Given the description of an element on the screen output the (x, y) to click on. 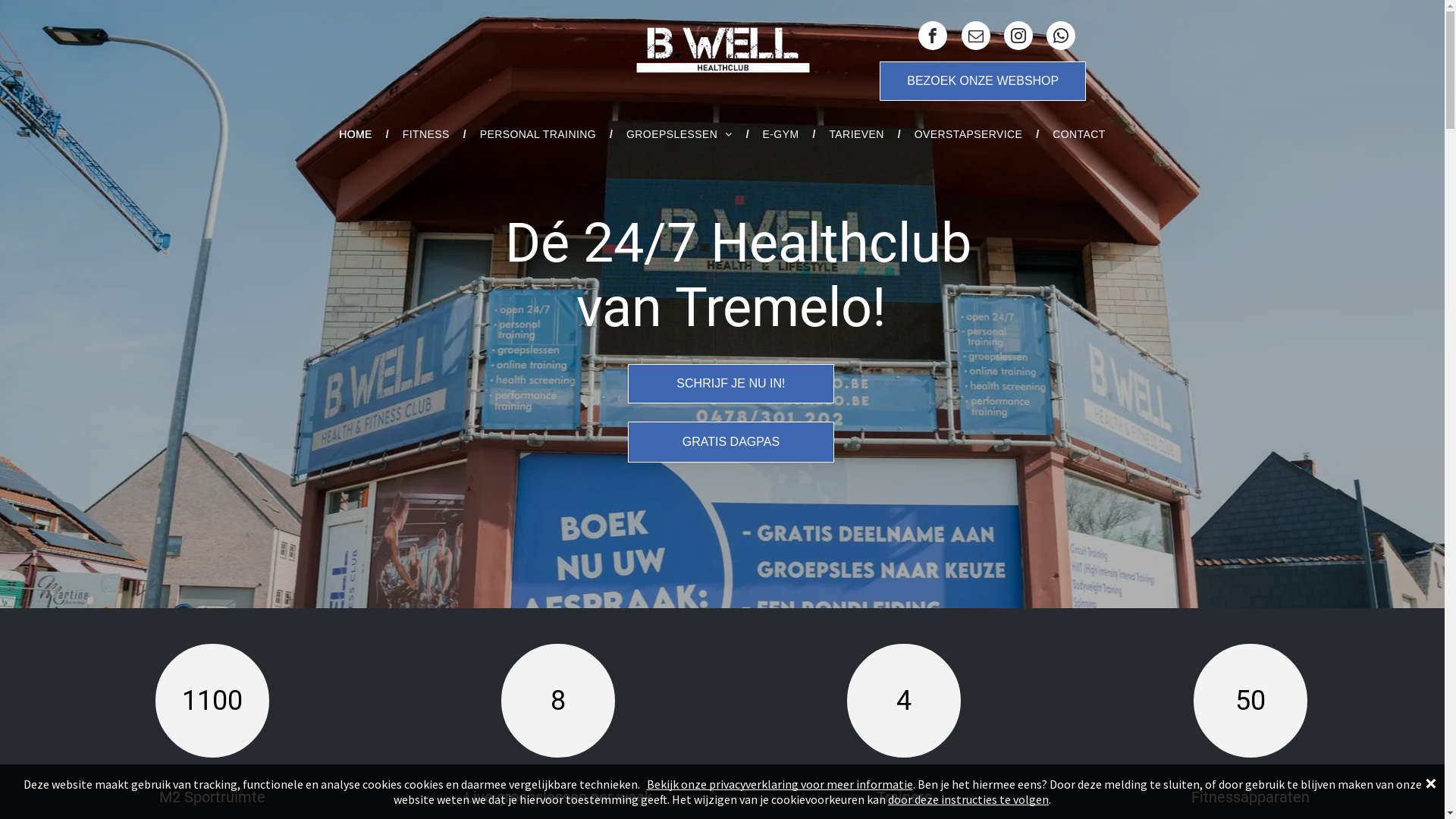
FITNESS Element type: text (426, 134)
CONTACT Element type: text (1078, 134)
Bekijk onze privacyverklaring voor meer informatie Element type: text (779, 783)
GROEPSLESSEN Element type: text (679, 134)
OVERSTAPSERVICE Element type: text (968, 134)
GRATIS DAGPAS Element type: text (730, 441)
SCHRIJF JE NU IN! Element type: text (730, 383)
HOME Element type: text (355, 134)
E-GYM Element type: text (780, 134)
TARIEVEN Element type: text (856, 134)
PERSONAL TRAINING Element type: text (537, 134)
BEZOEK ONZE WEBSHOP Element type: text (982, 80)
door deze instructies te volgen Element type: text (968, 798)
